Given the description of an element on the screen output the (x, y) to click on. 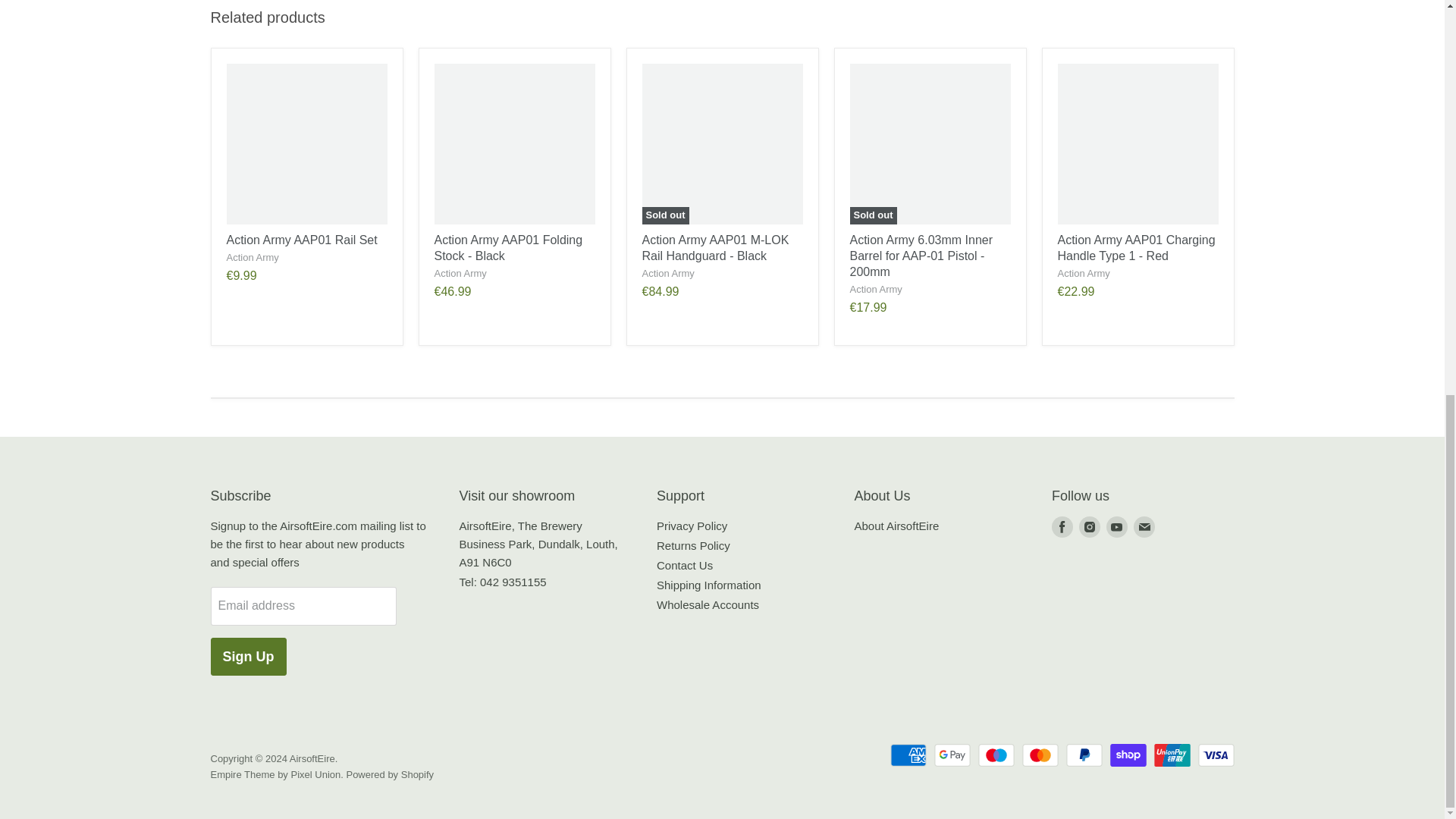
Wholesale Accounts (707, 604)
Youtube (1117, 526)
Facebook (1061, 526)
E-mail (1144, 526)
Contact Us (684, 564)
Privacy Policy (691, 525)
Instagram (1089, 526)
Delivery (708, 584)
Returns Policy (693, 545)
American Express (907, 754)
